Given the description of an element on the screen output the (x, y) to click on. 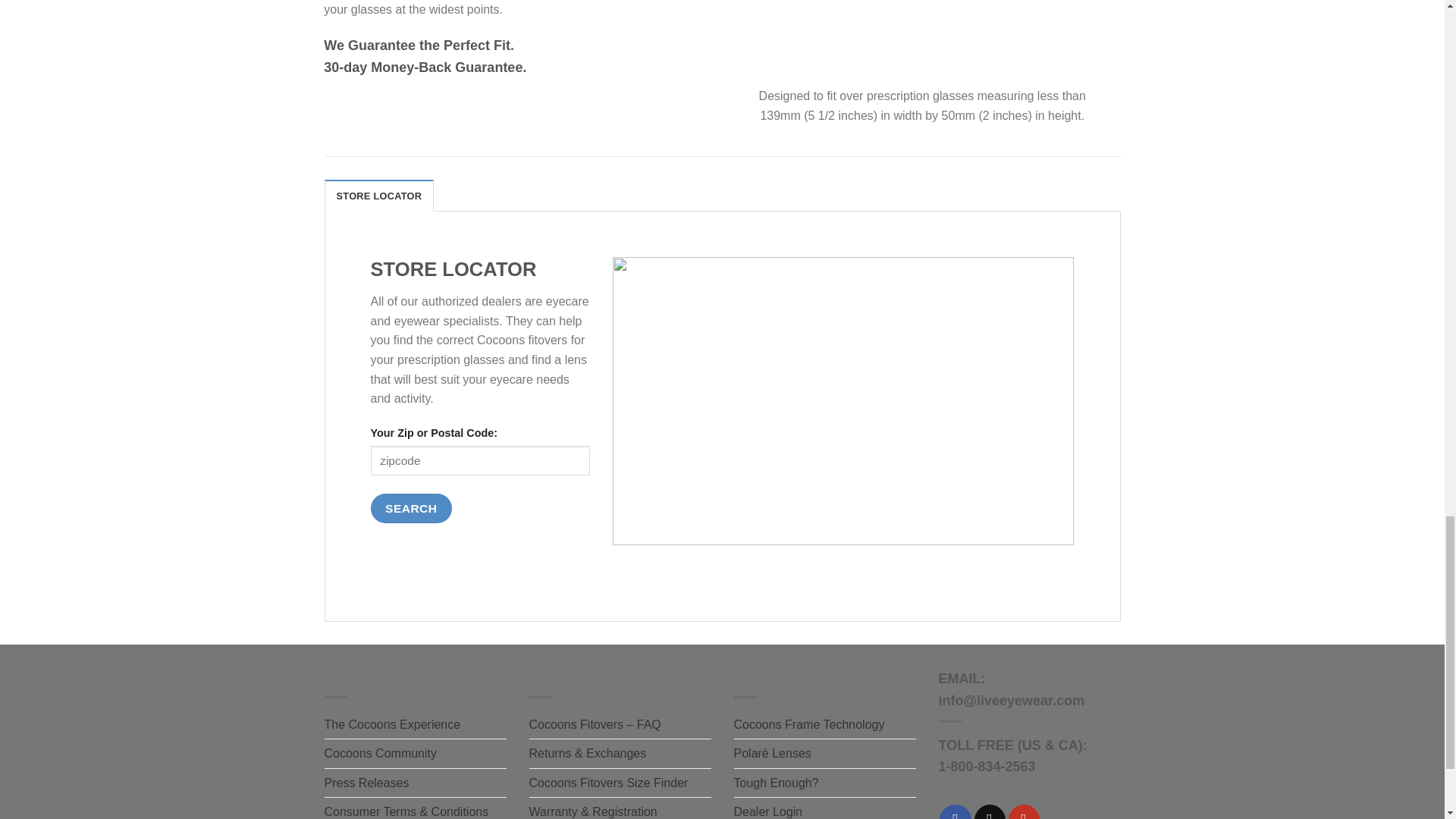
Follow on Facebook (955, 811)
Search (410, 508)
Send us an email (990, 811)
Follow on YouTube (1024, 811)
